Given the description of an element on the screen output the (x, y) to click on. 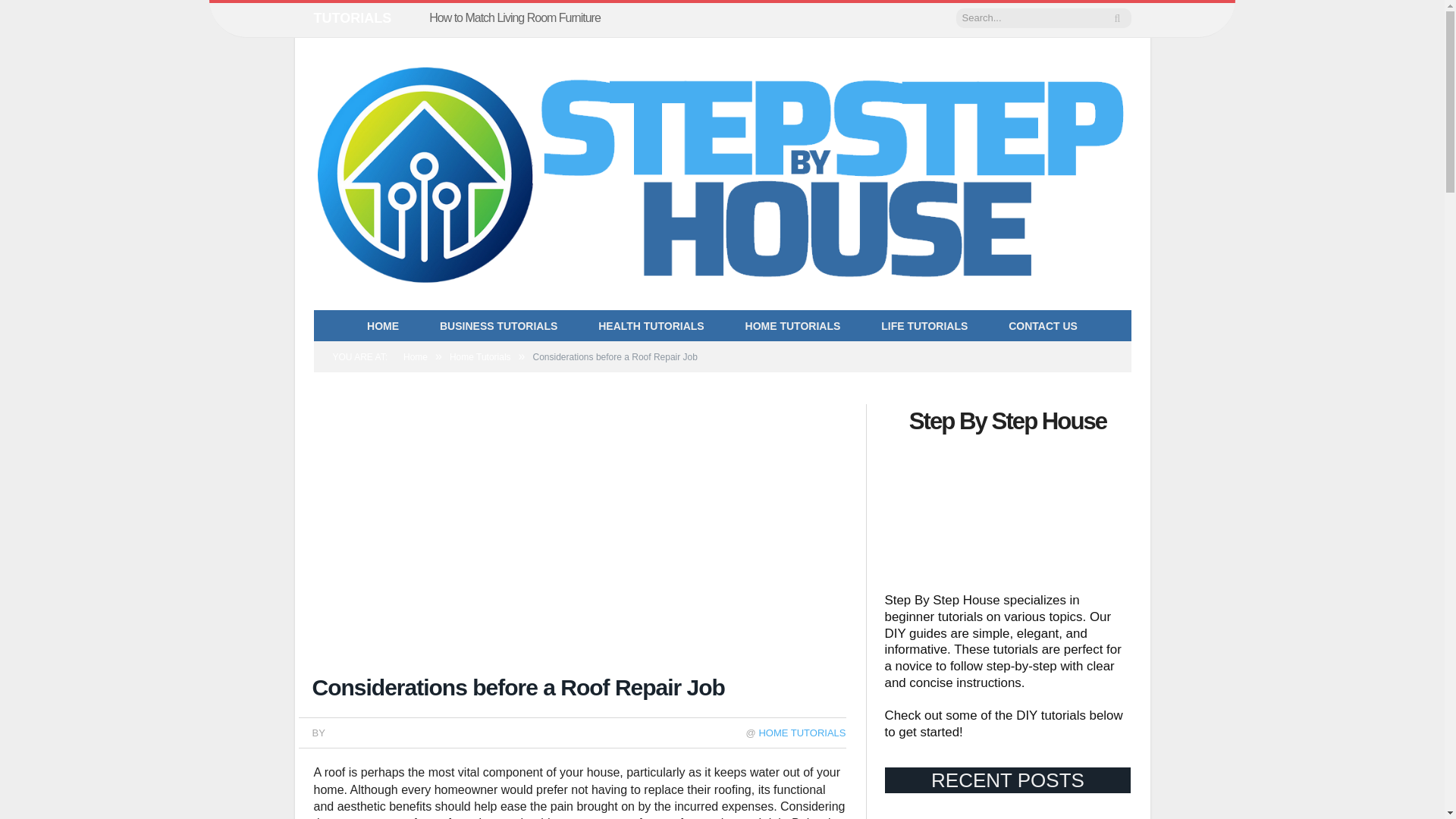
BUSINESS TUTORIALS (498, 326)
LIFE TUTORIALS (924, 326)
CONTACT US (1043, 326)
How to Match Living Room Furniture (518, 18)
How to Match Living Room Furniture (518, 18)
Step By Step House (722, 169)
HEALTH TUTORIALS (650, 326)
HOME (382, 326)
HOME TUTORIALS (801, 732)
HOME TUTORIALS (793, 326)
